Given the description of an element on the screen output the (x, y) to click on. 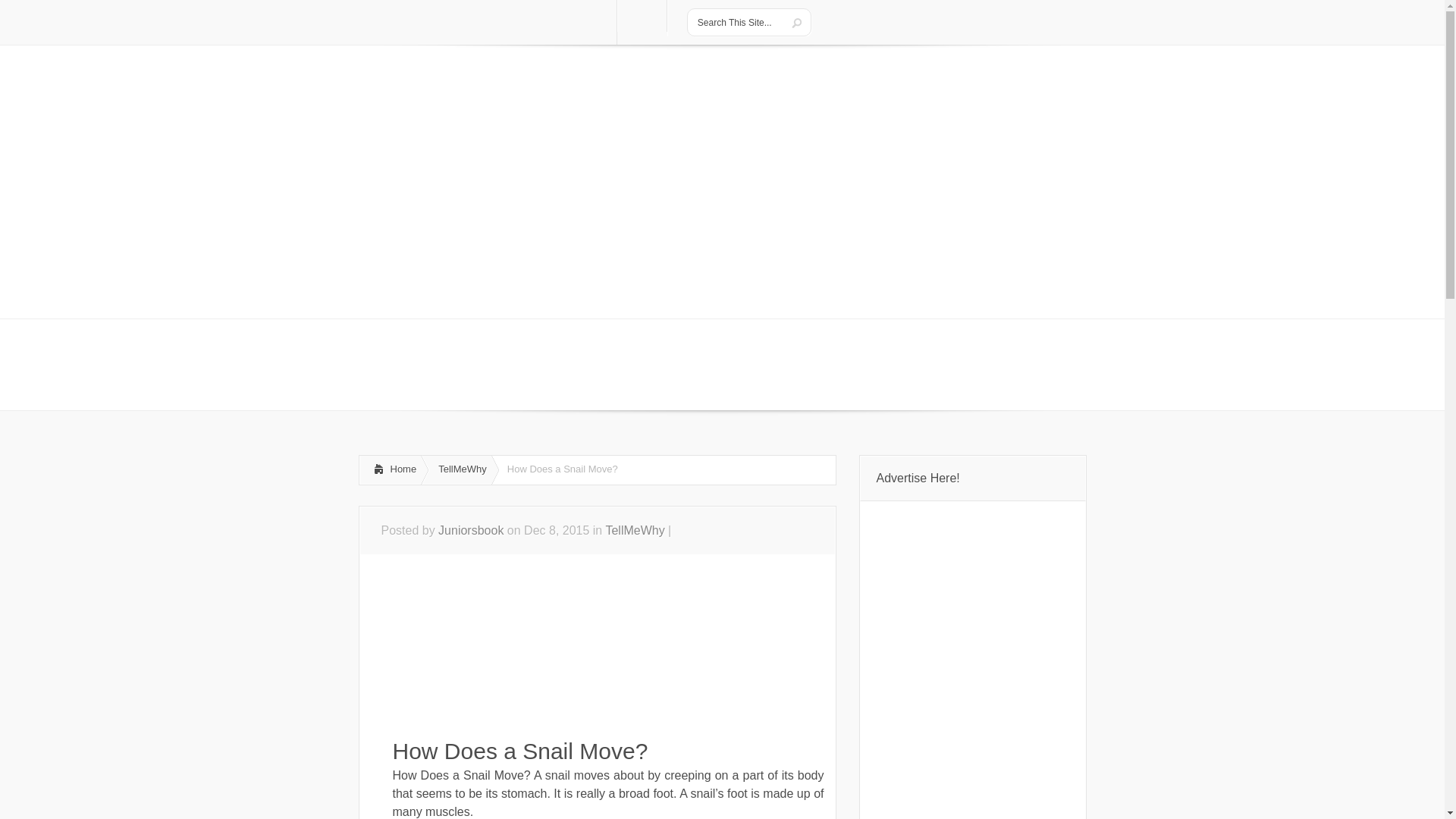
Posts by Juniorsbook (470, 530)
Search This Site... (736, 22)
